Given the description of an element on the screen output the (x, y) to click on. 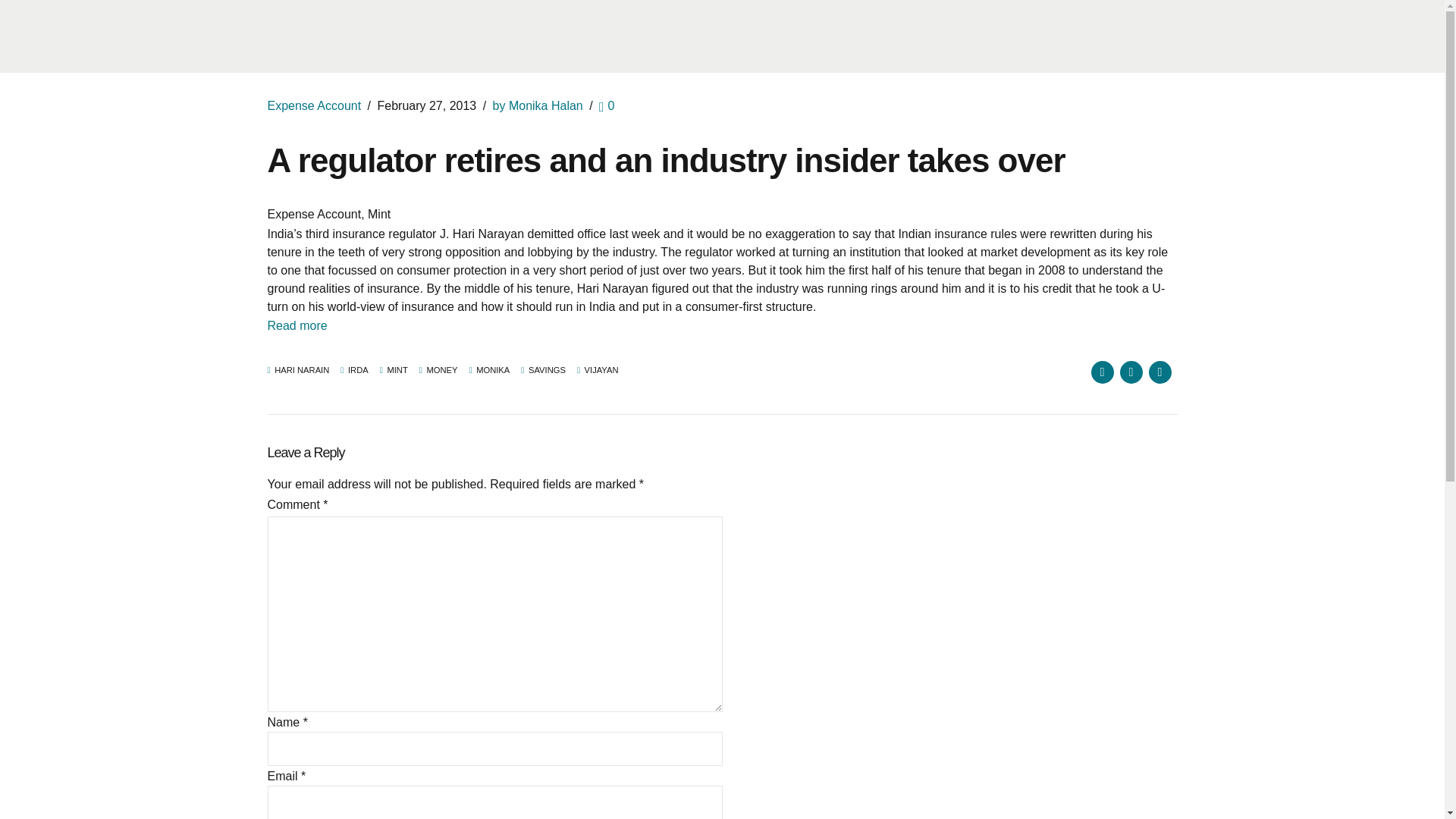
Share on Linkedin (1159, 372)
MONEY (438, 370)
HARI NARAIN (297, 370)
0 (606, 105)
by Monika Halan (538, 105)
expense account irda vijayan (296, 325)
IRDA (354, 370)
Share on Twitter (1130, 372)
MINT (393, 370)
Expense Account (313, 105)
